Given the description of an element on the screen output the (x, y) to click on. 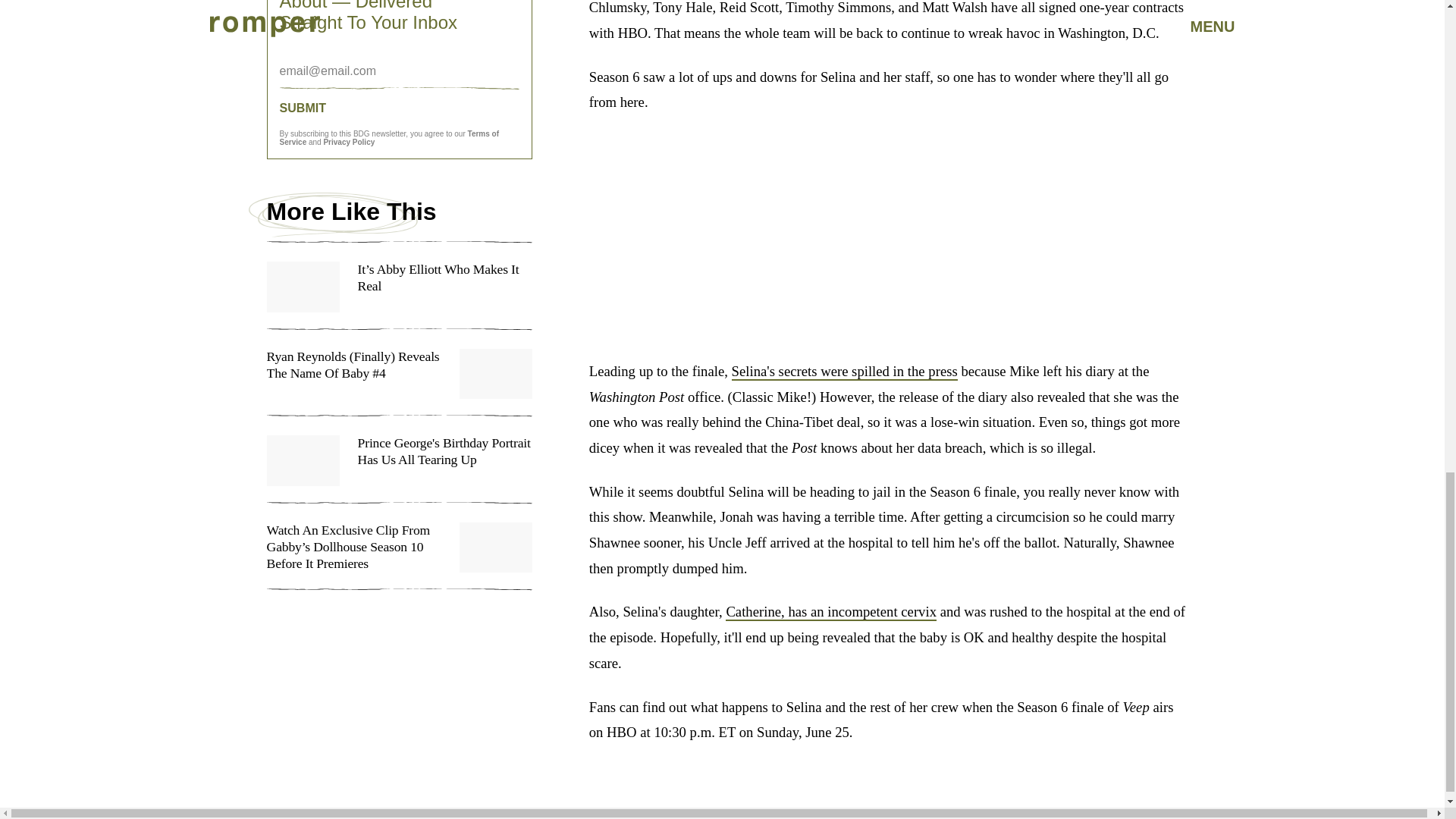
Terms of Service (389, 137)
SUBMIT (399, 107)
Selina's secrets were spilled in the press (845, 371)
Catherine, has an incompetent cervix (830, 611)
Prince George's Birthday Portrait Has Us All Tearing Up (399, 468)
Privacy Policy (348, 142)
